Given the description of an element on the screen output the (x, y) to click on. 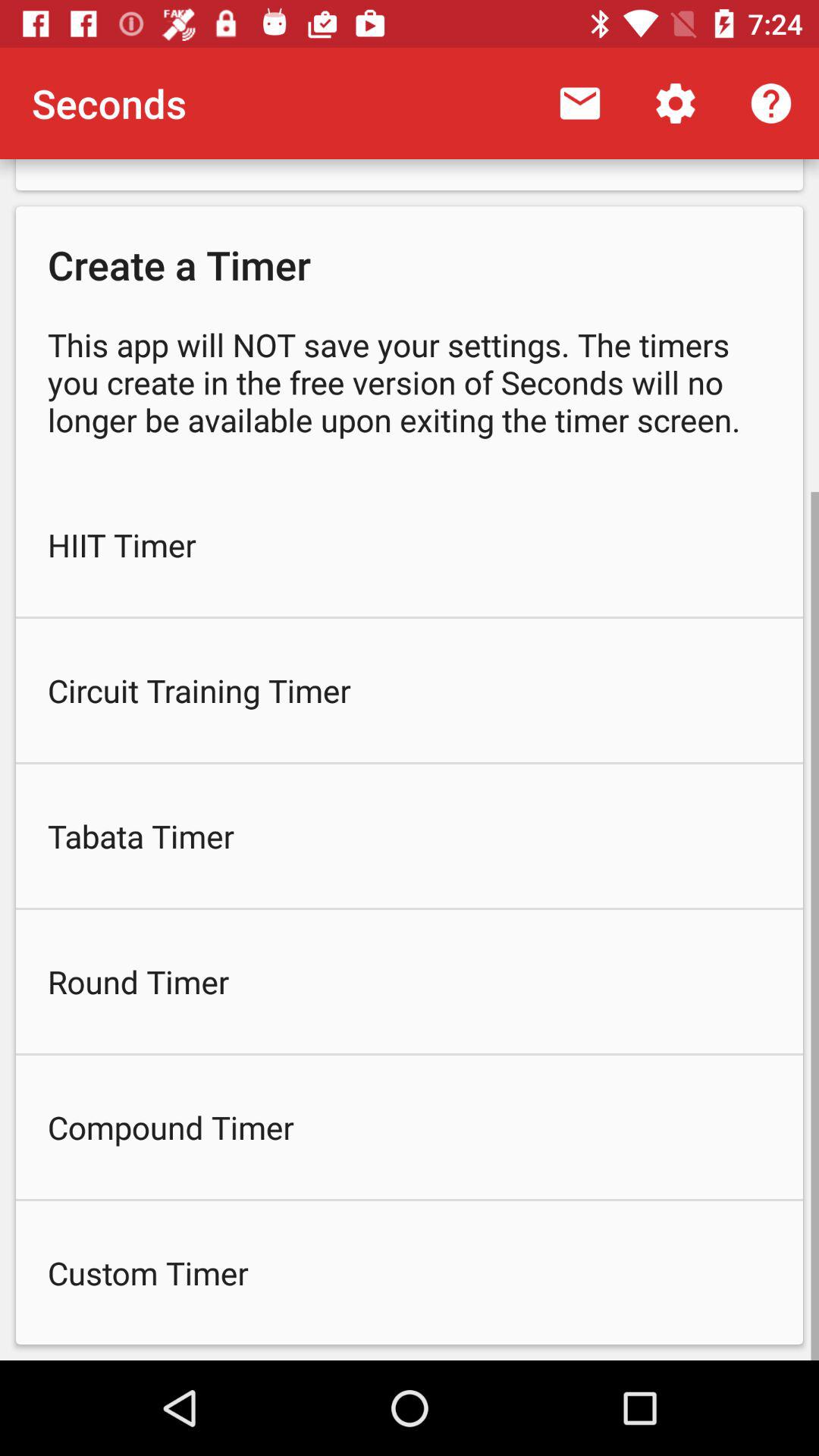
swipe until compound timer icon (409, 1126)
